Given the description of an element on the screen output the (x, y) to click on. 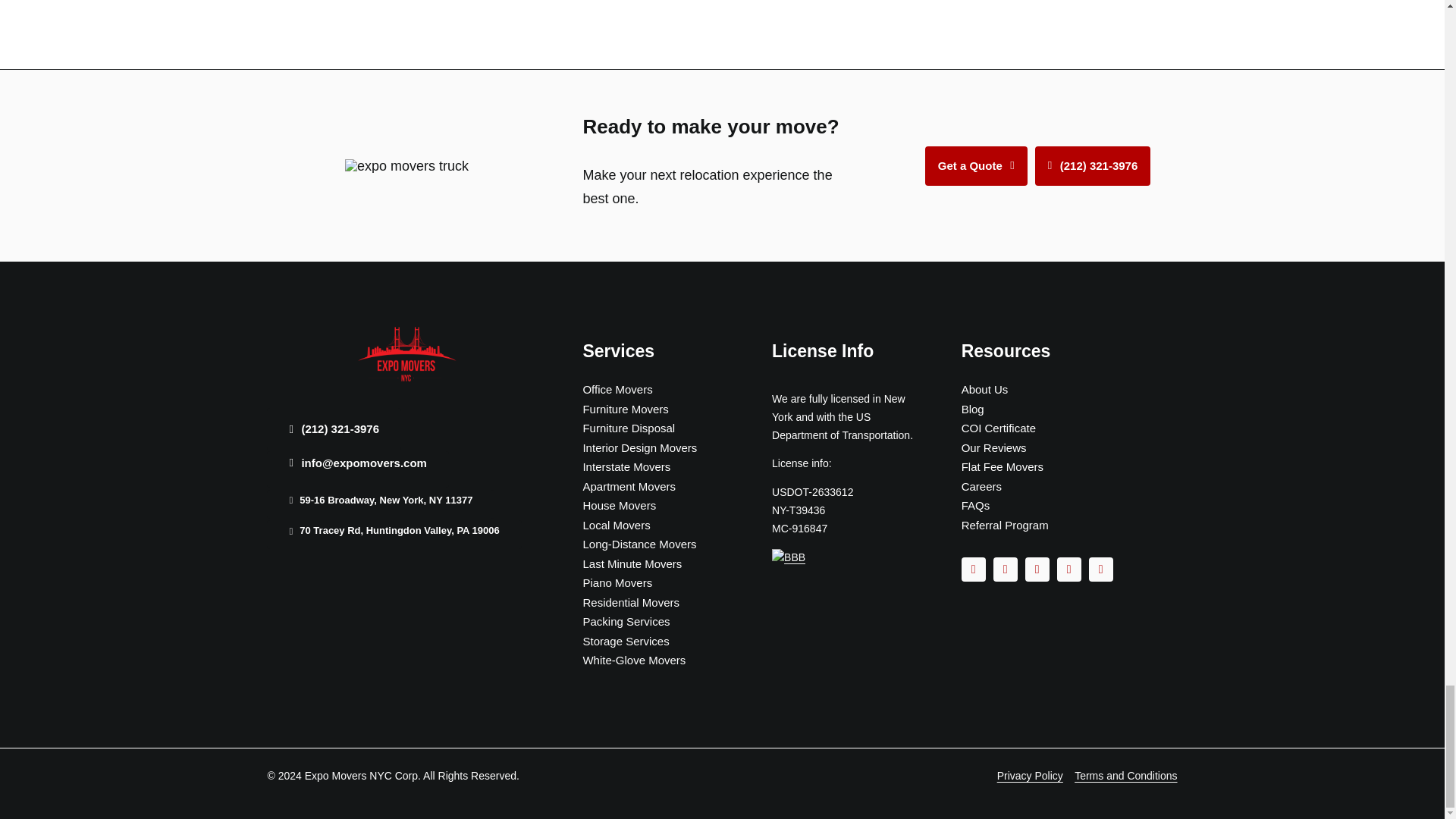
Tiktok (1037, 569)
Facebook (972, 569)
Instagram (1004, 569)
expo-logo (407, 353)
